Given the description of an element on the screen output the (x, y) to click on. 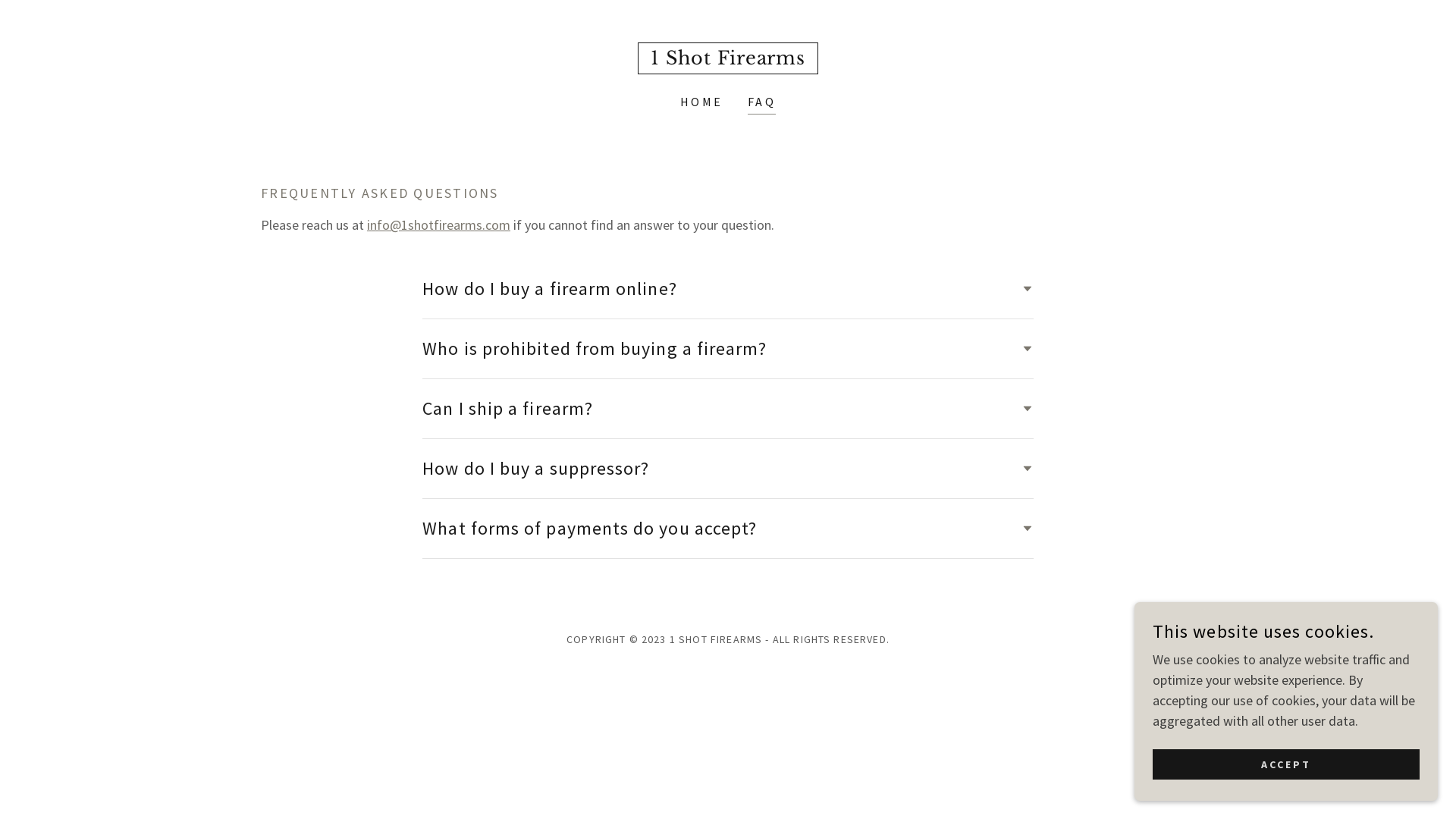
How do I buy a suppressor? Element type: text (727, 468)
Who is prohibited from buying a firearm? Element type: text (727, 348)
ACCEPT Element type: text (1285, 764)
1 Shot Firearms Element type: text (727, 59)
What forms of payments do you accept? Element type: text (727, 528)
How do I buy a firearm online? Element type: text (727, 288)
info@1shotfirearms.com Element type: text (438, 224)
HOME Element type: text (701, 101)
FAQ Element type: text (761, 103)
Can I ship a firearm? Element type: text (727, 408)
